Given the description of an element on the screen output the (x, y) to click on. 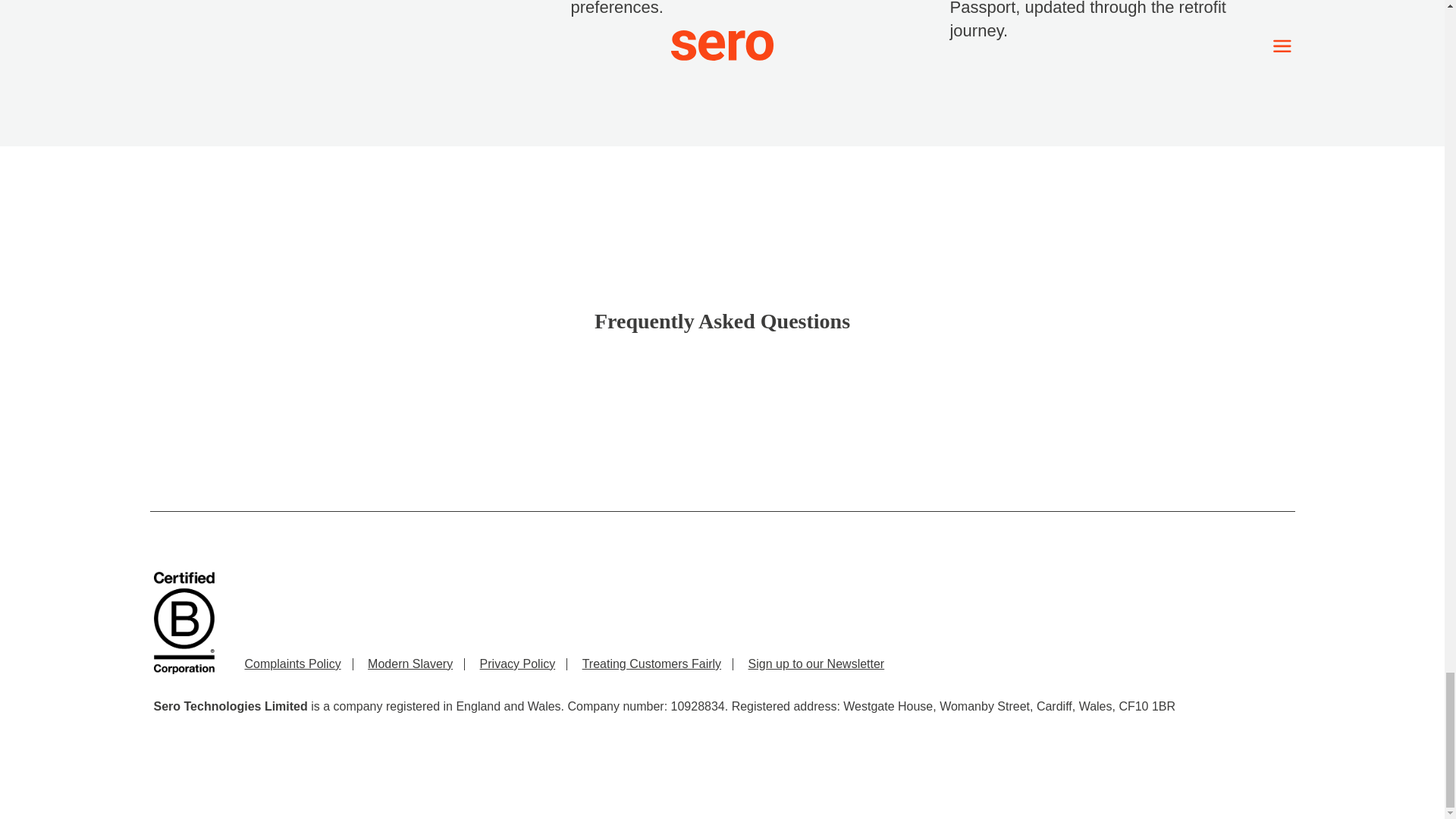
Privacy Policy (518, 664)
Sign up to our Newsletter (816, 664)
Modern Slavery (410, 664)
Complaints Policy (292, 664)
Treating Customers Fairly (651, 664)
